Given the description of an element on the screen output the (x, y) to click on. 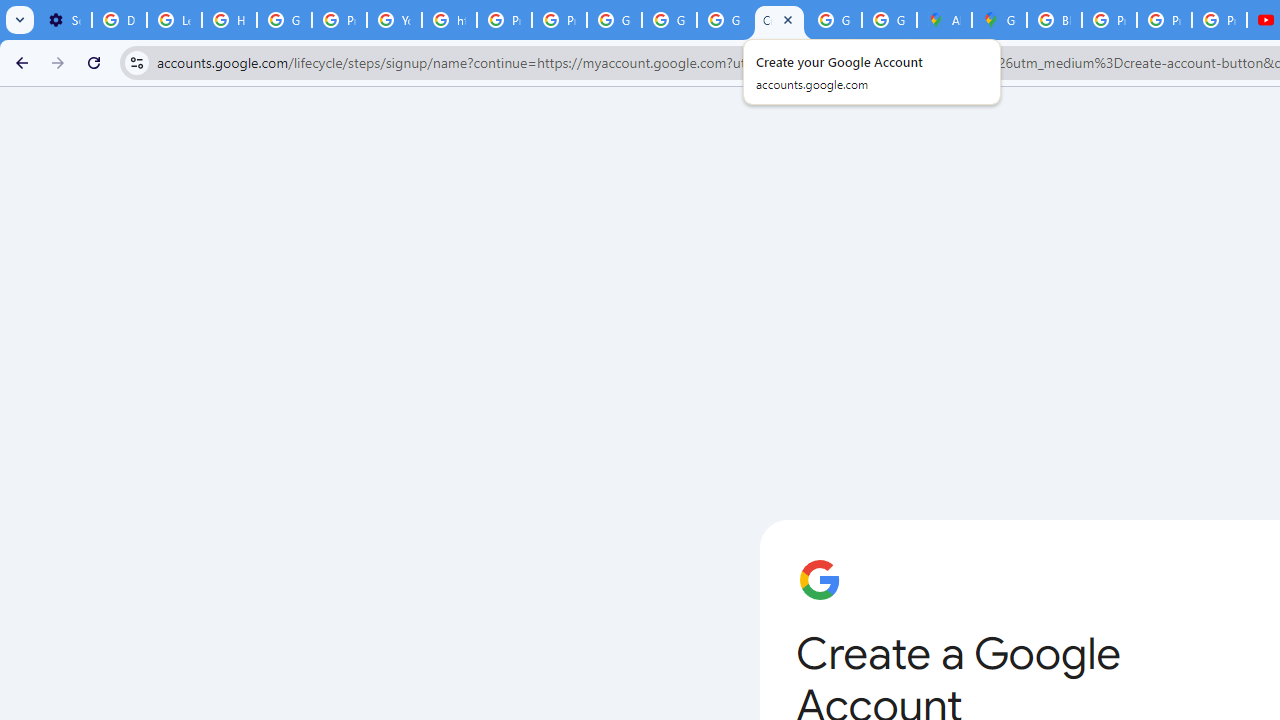
Create your Google Account (779, 20)
Delete photos & videos - Computer - Google Photos Help (119, 20)
YouTube (394, 20)
Privacy Help Center - Policies Help (1108, 20)
Settings - Customize profile (64, 20)
